Given the description of an element on the screen output the (x, y) to click on. 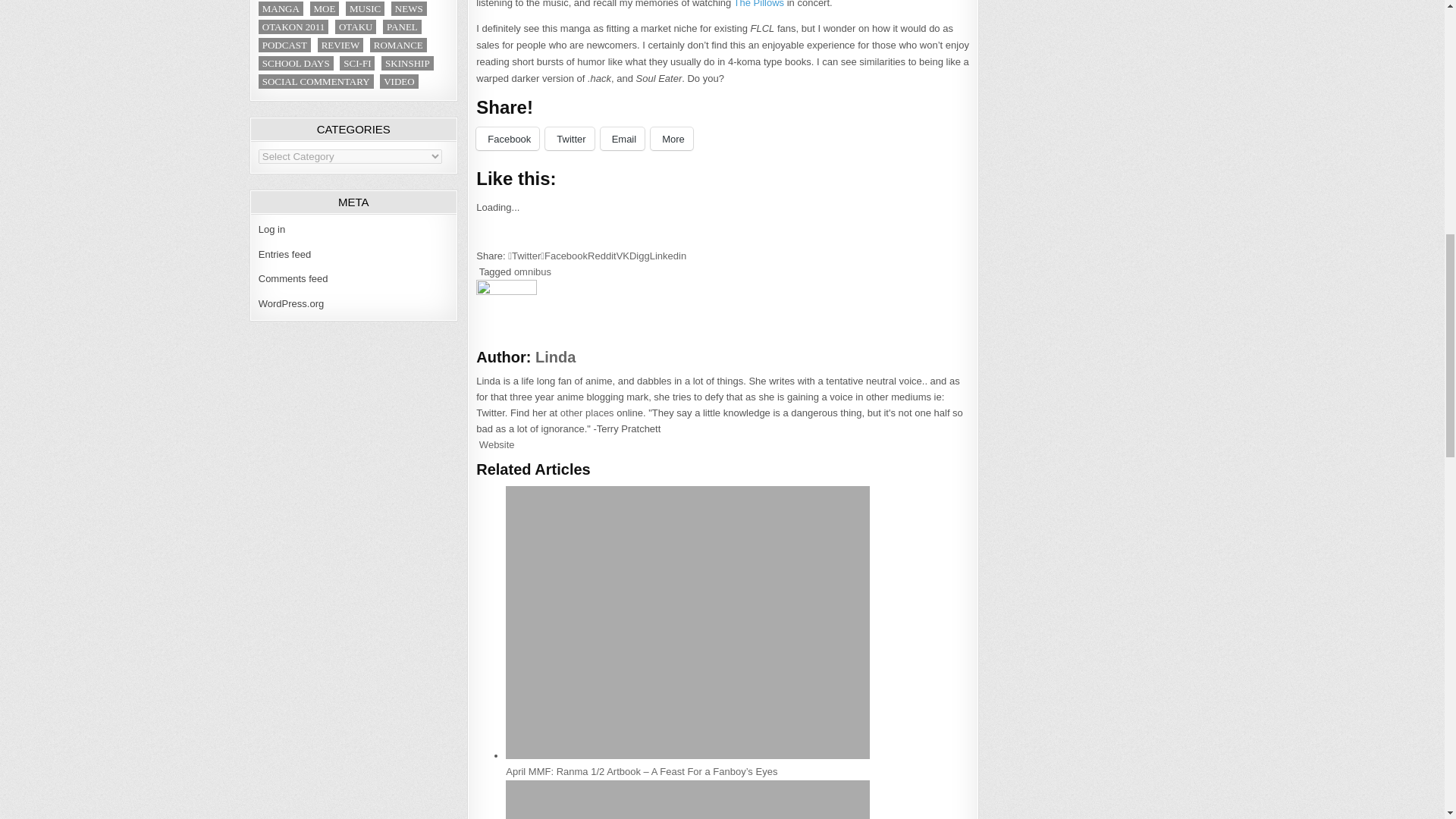
Click to share on Facebook (507, 138)
Click to email a link to a friend (622, 138)
Click to share on Twitter (569, 138)
